Given the description of an element on the screen output the (x, y) to click on. 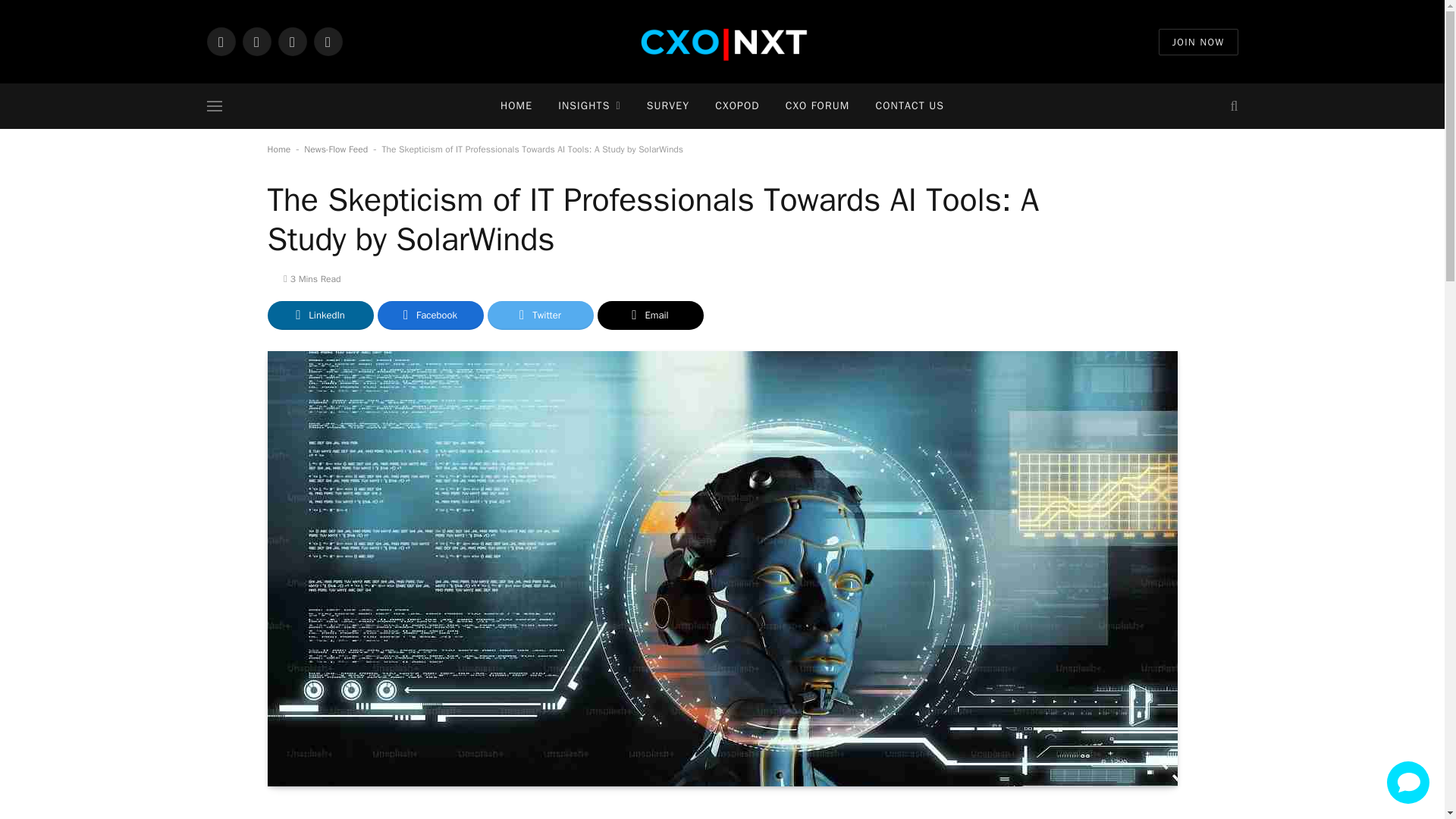
INSIGHTS (588, 105)
HOME (515, 105)
LinkedIn (220, 41)
YouTube (328, 41)
Facebook (291, 41)
JOIN NOW (1198, 41)
